Given the description of an element on the screen output the (x, y) to click on. 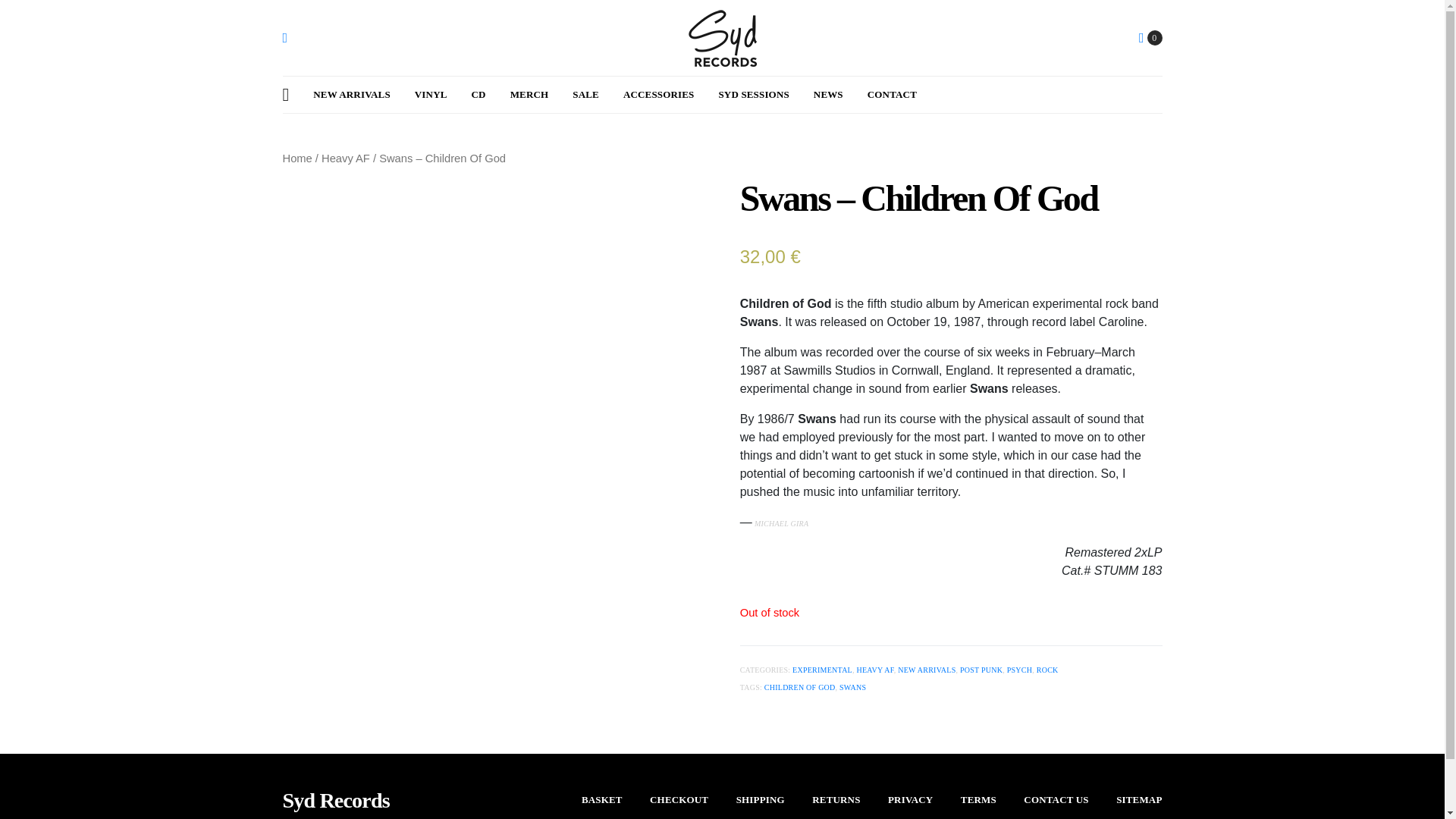
BASKET (601, 799)
SYD SESSIONS (753, 94)
NEW ARRIVALS (351, 94)
0 (1149, 37)
Home (296, 158)
Syd Records (335, 800)
PSYCH (1019, 669)
NEW ARRIVALS (926, 669)
CHILDREN OF GOD (799, 687)
Heavy AF (345, 158)
VINYL (430, 94)
SWANS (853, 687)
CHECKOUT (678, 799)
View your shopping cart (1149, 37)
HEAVY AF (874, 669)
